Given the description of an element on the screen output the (x, y) to click on. 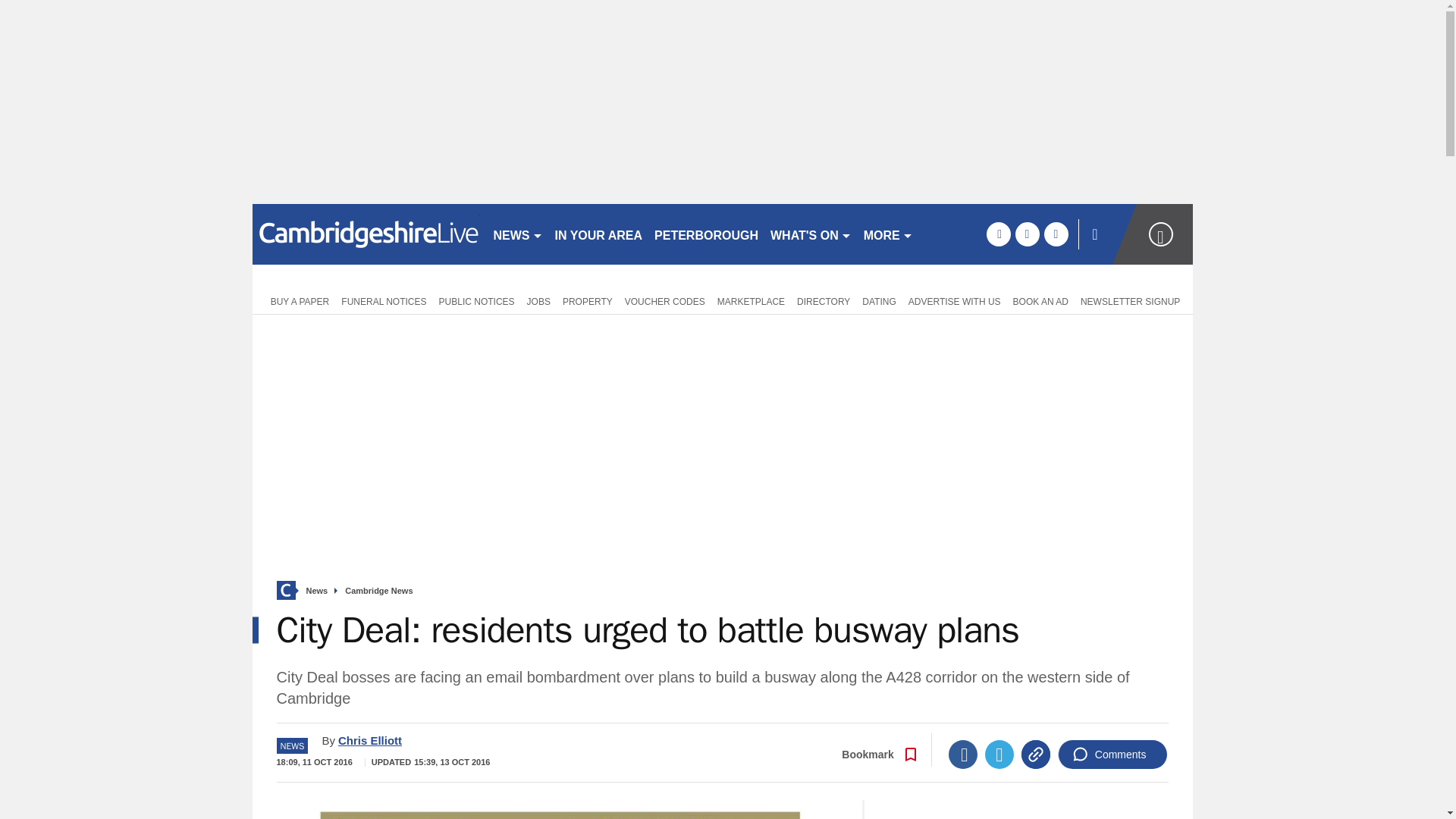
Comments (1112, 754)
Facebook (962, 754)
MORE (887, 233)
facebook (997, 233)
PETERBOROUGH (705, 233)
twitter (1026, 233)
NEWS (517, 233)
WHAT'S ON (810, 233)
instagram (1055, 233)
IN YOUR AREA (598, 233)
